Given the description of an element on the screen output the (x, y) to click on. 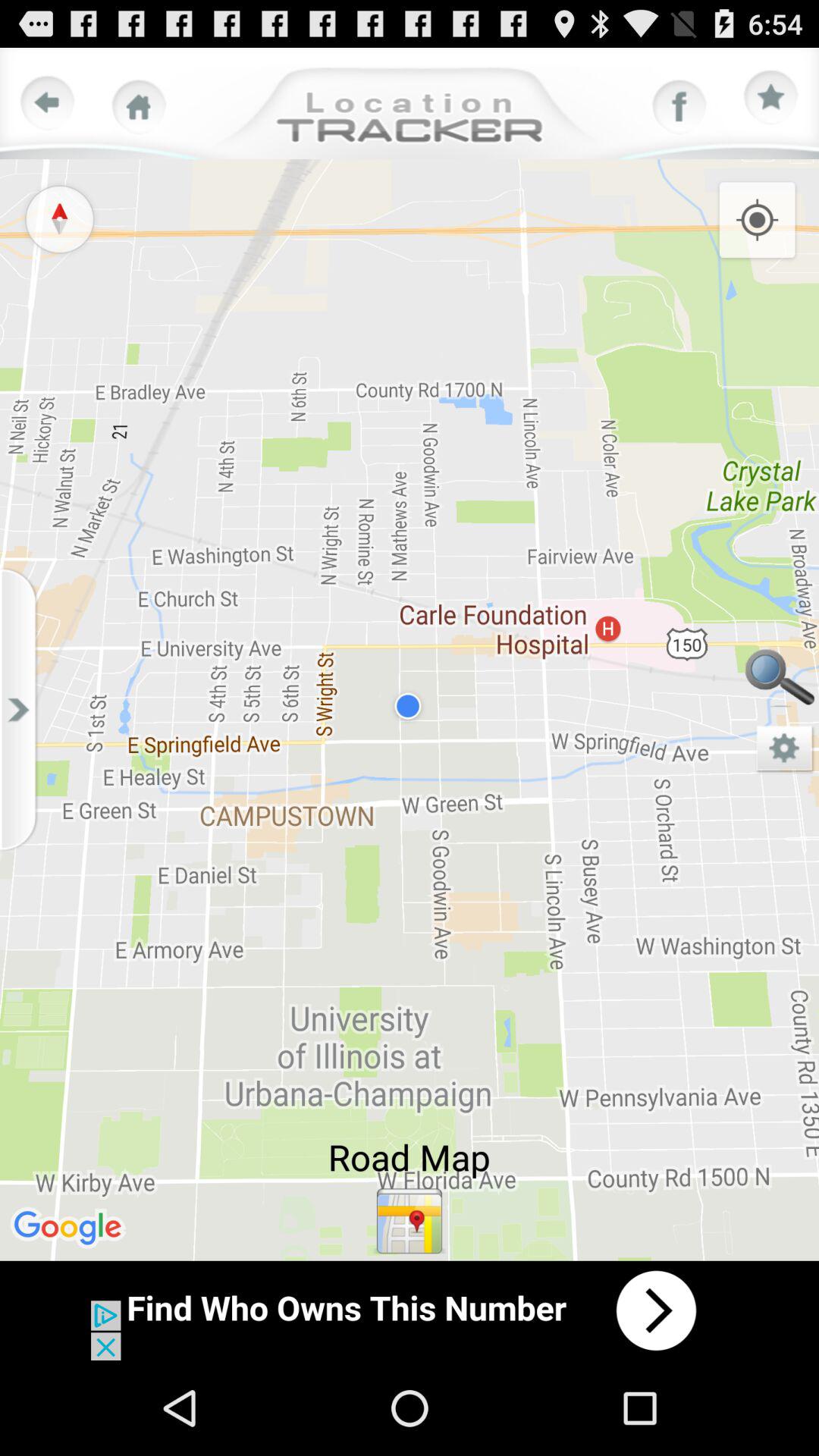
search option (779, 680)
